Given the description of an element on the screen output the (x, y) to click on. 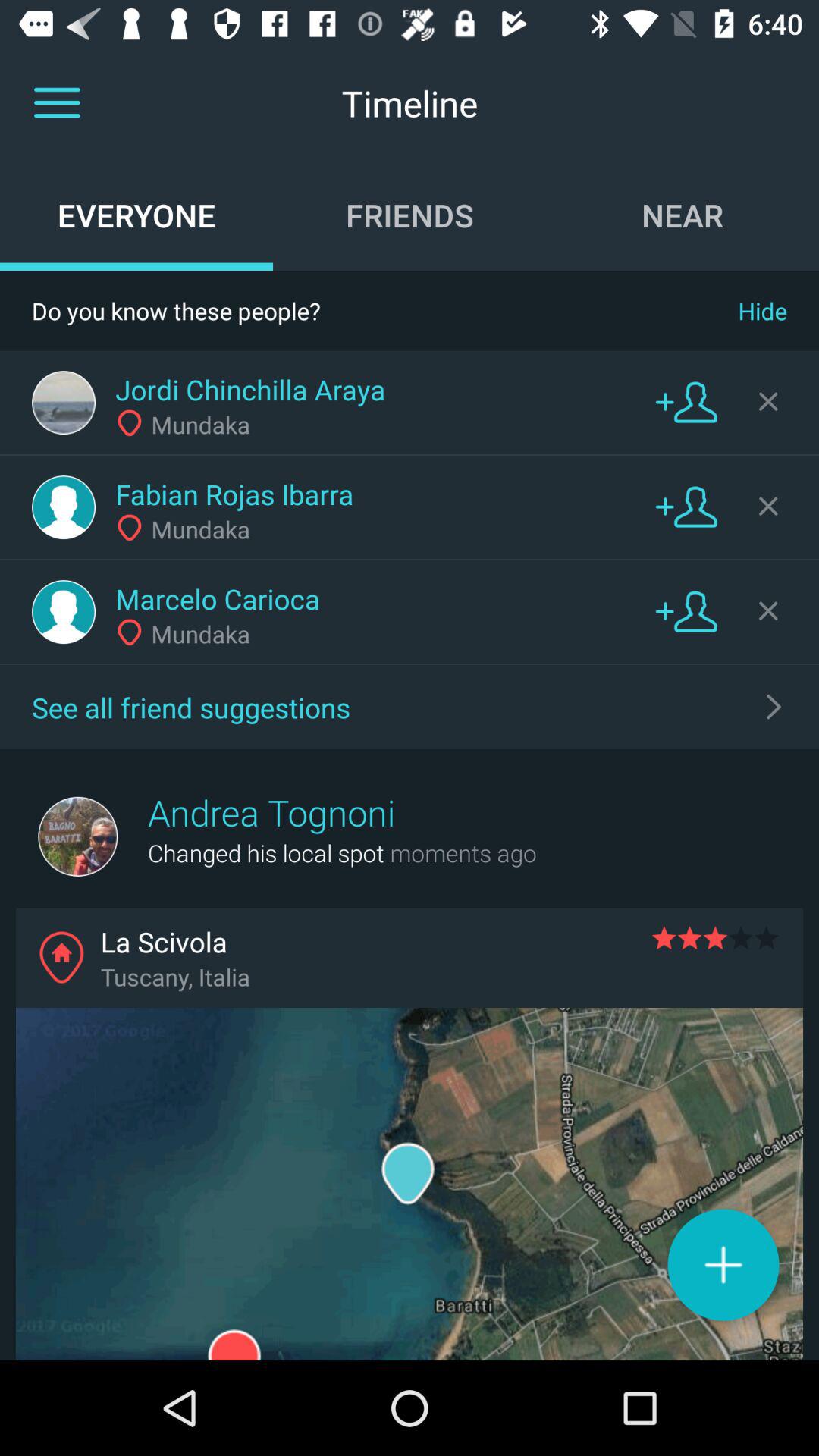
turn off the item to the left of friends icon (136, 214)
